Given the description of an element on the screen output the (x, y) to click on. 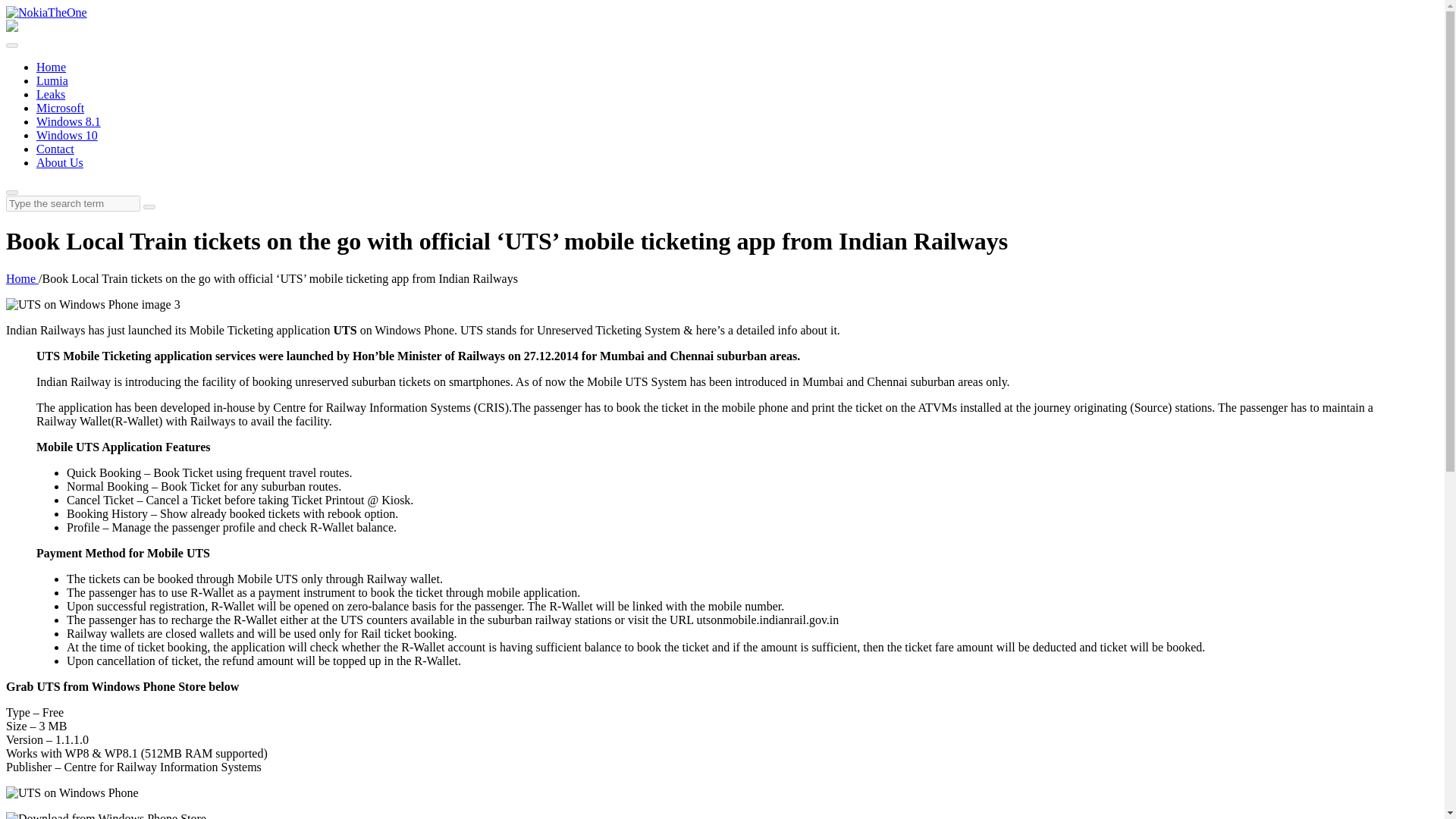
Microsoft (60, 107)
Home (22, 278)
Contact (55, 148)
Windows 10 (66, 134)
About Us (59, 162)
Lumia (52, 80)
Leaks (50, 93)
Home (50, 66)
Windows 8.1 (68, 121)
